Given the description of an element on the screen output the (x, y) to click on. 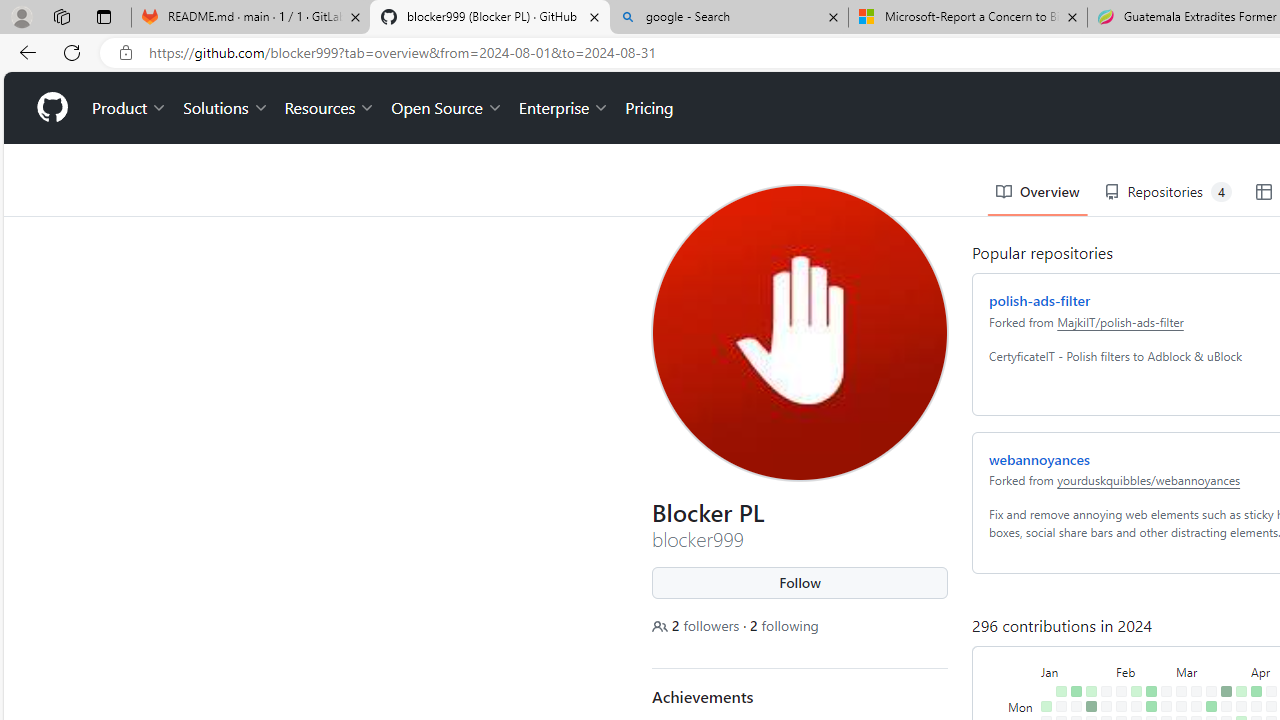
No contributions on March 22nd. (1207, 694)
No contributions on March 11th. (1192, 634)
1 contribution on February 11th. (1131, 619)
No contributions on March 5th. (1177, 649)
Tuesday (1017, 649)
5 contributions on March 18th. (1207, 634)
1 contribution on March 31st. (1236, 619)
7 contributions on January 11th. (1057, 678)
3 contributions on January 10th. (1057, 664)
4 contributions on January 14th. (1072, 619)
2 contributions on March 21st. (1207, 678)
No contributions on April 17th. (1267, 664)
No contributions on March 20th. (1207, 664)
